Given the description of an element on the screen output the (x, y) to click on. 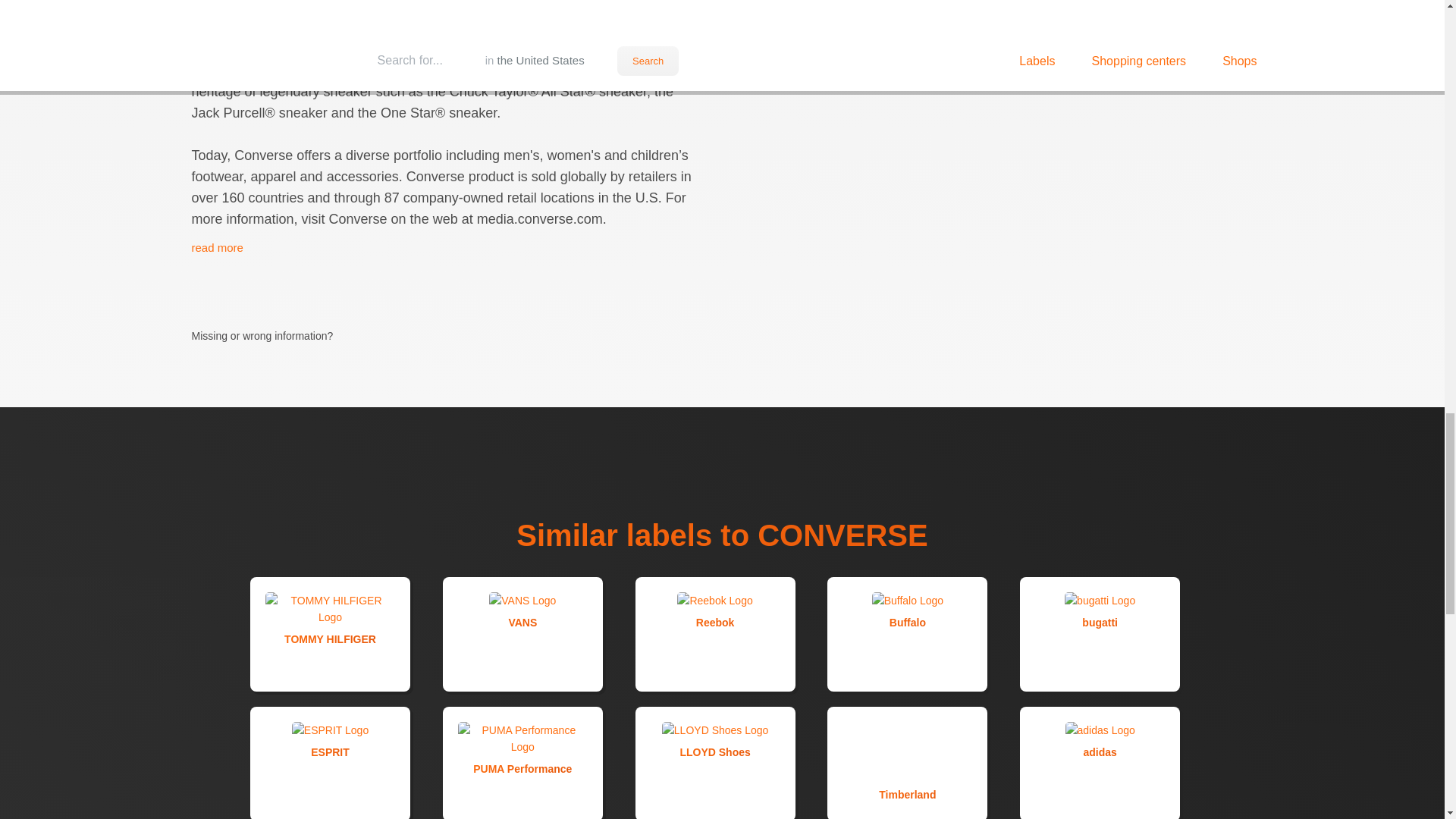
bugatti (1099, 633)
ESPRIT (330, 762)
read more (216, 247)
Buffalo (907, 633)
Missing or wrong information? (272, 312)
Reebok (714, 633)
adidas (1099, 762)
Reebok (714, 633)
PUMA Performance (522, 762)
Timberland (907, 762)
